Given the description of an element on the screen output the (x, y) to click on. 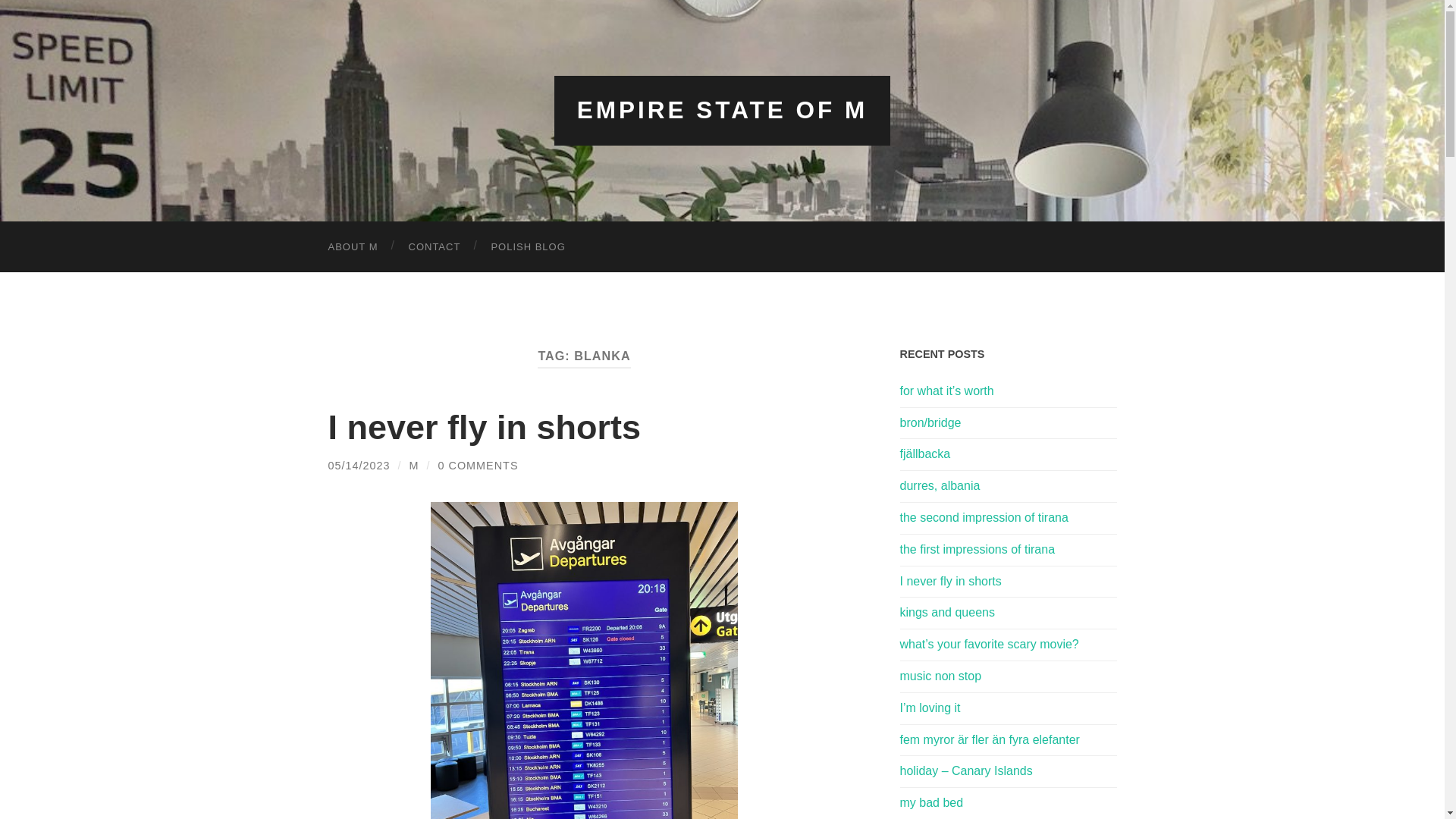
I never fly in shorts (483, 426)
I never fly in shorts (1007, 581)
my bad bed (1007, 803)
the first impressions of tirana (1007, 549)
ABOUT M (353, 246)
music non stop (1007, 676)
durres, albania (1007, 486)
the second impression of tirana (1007, 518)
0 COMMENTS (478, 465)
POLISH BLOG (527, 246)
kings and queens (1007, 612)
EMPIRE STATE OF M (721, 109)
CONTACT (434, 246)
